Given the description of an element on the screen output the (x, y) to click on. 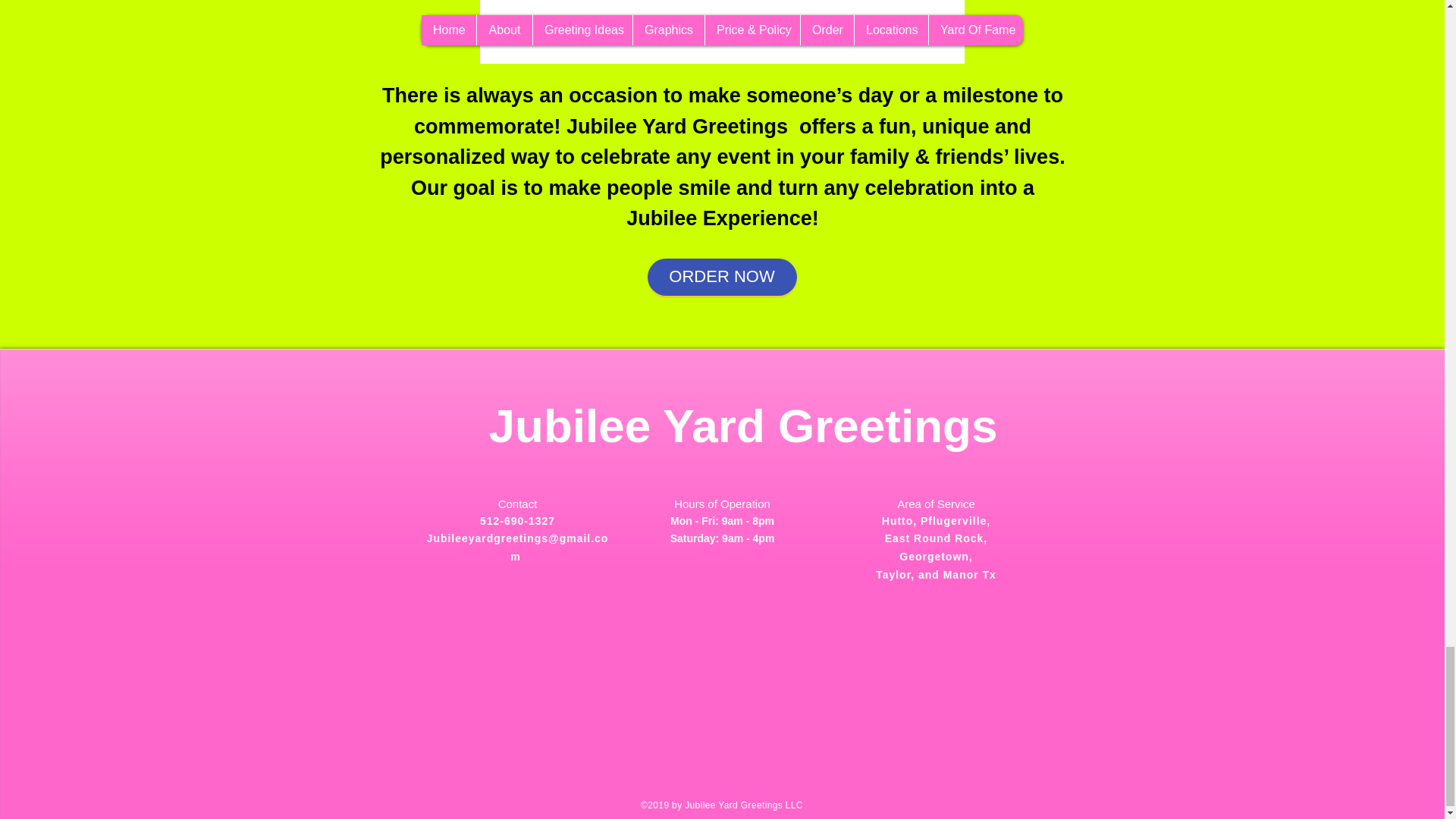
ORDER NOW (721, 276)
